Given the description of an element on the screen output the (x, y) to click on. 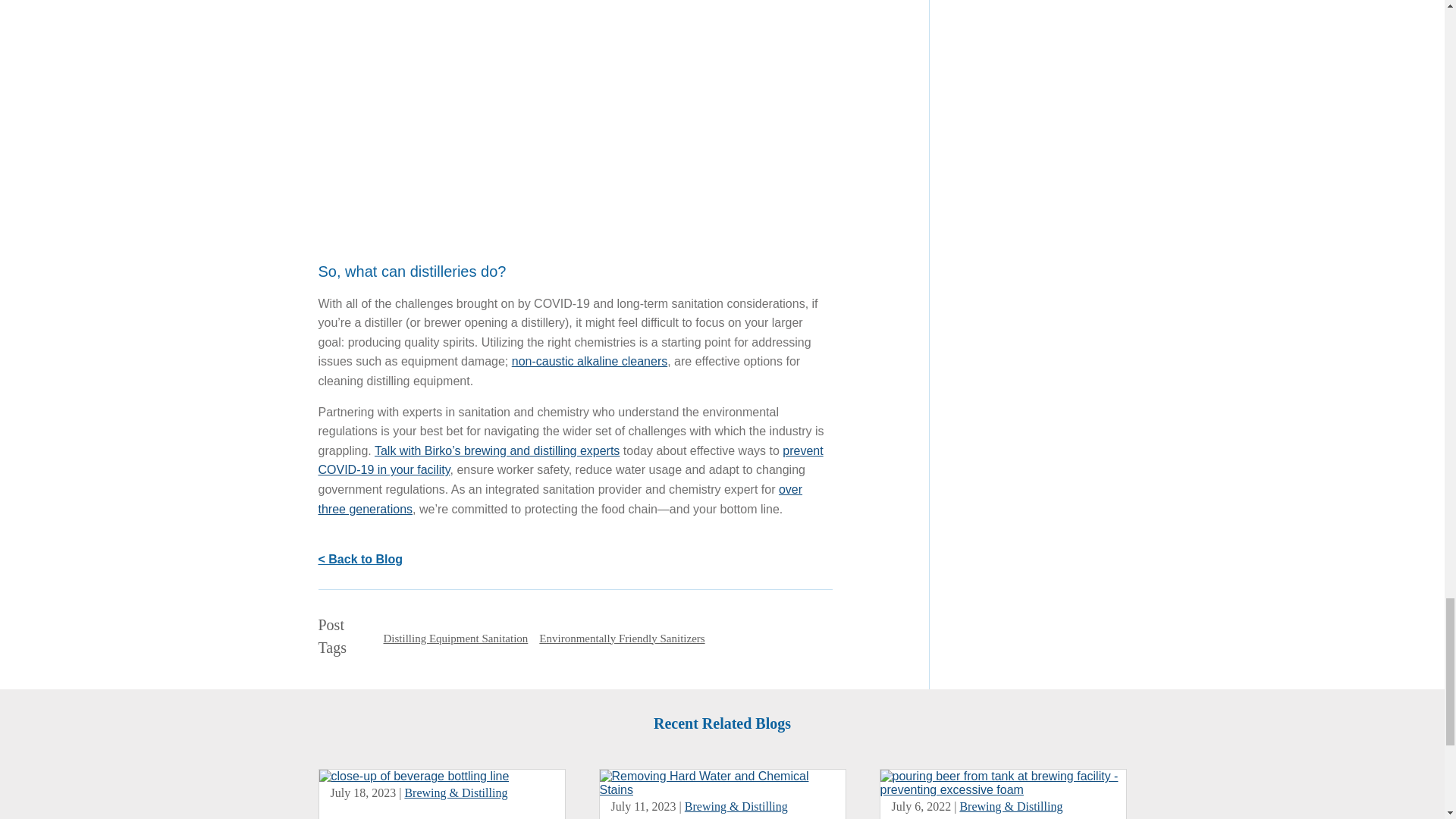
Higher Protein Levels in Malt Creates Issues for Brewers (1002, 789)
